Given the description of an element on the screen output the (x, y) to click on. 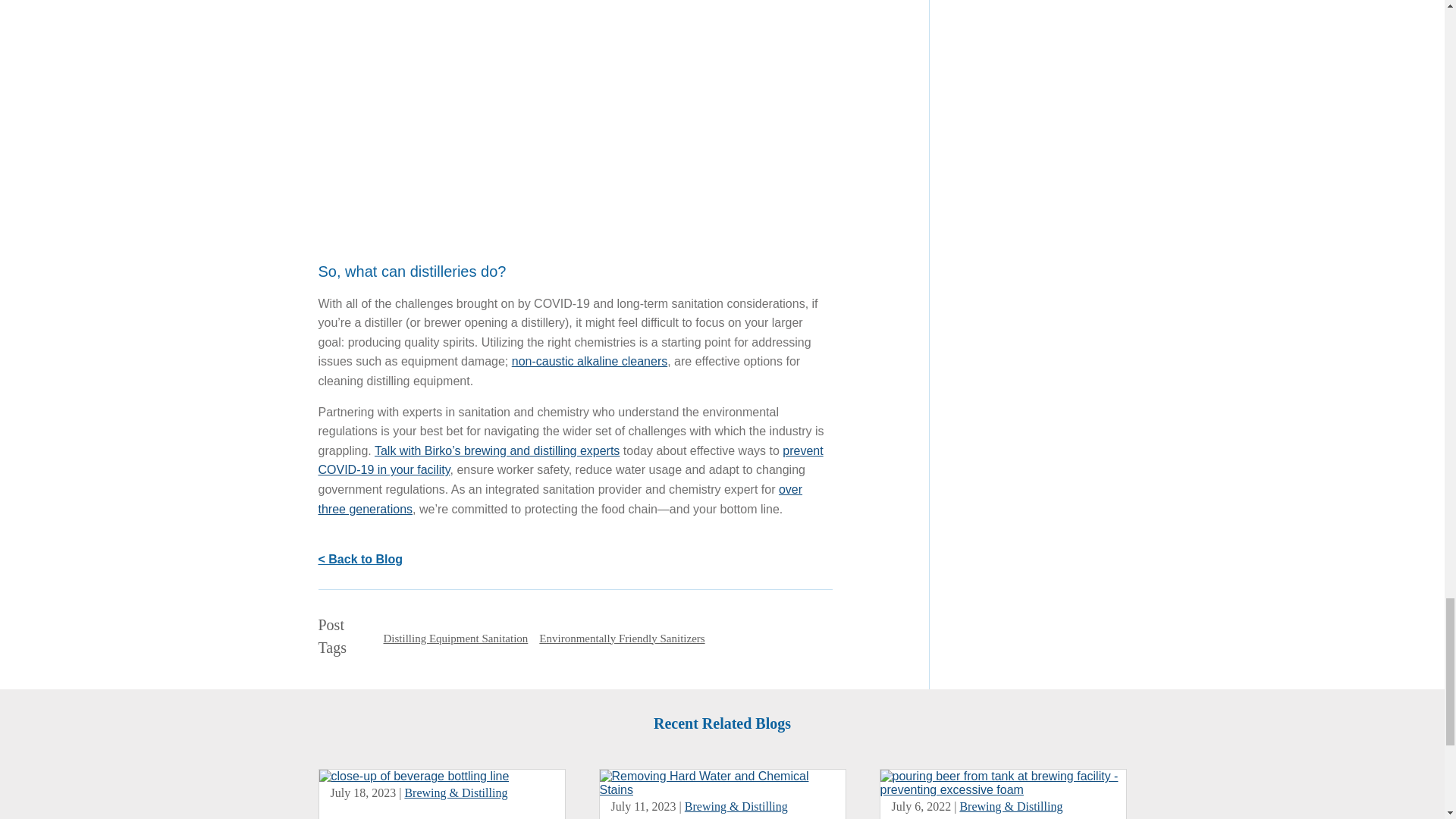
Higher Protein Levels in Malt Creates Issues for Brewers (1002, 789)
